Given the description of an element on the screen output the (x, y) to click on. 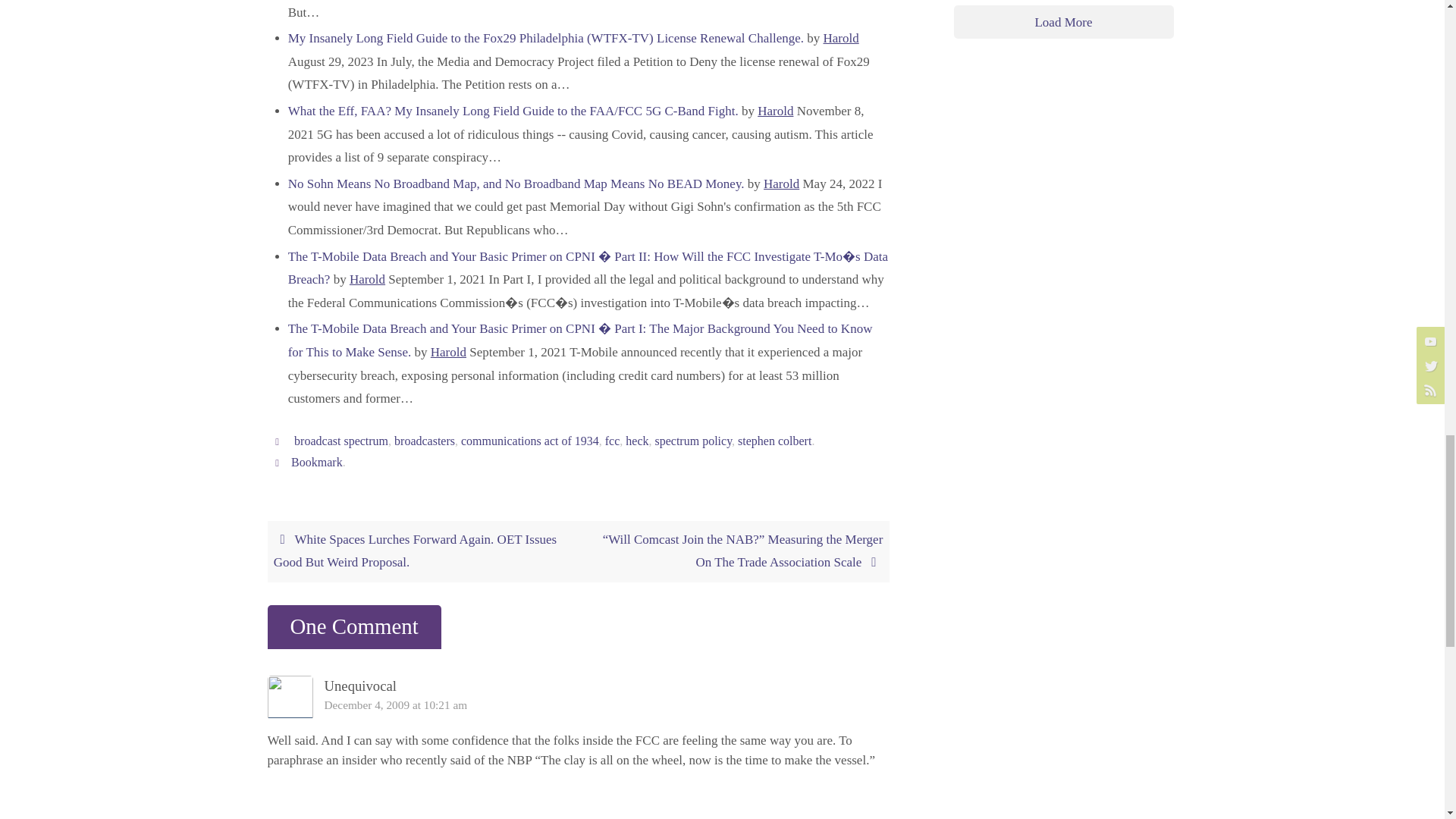
Harold (841, 38)
 Bookmark the permalink (278, 461)
Tagged (278, 440)
